Given the description of an element on the screen output the (x, y) to click on. 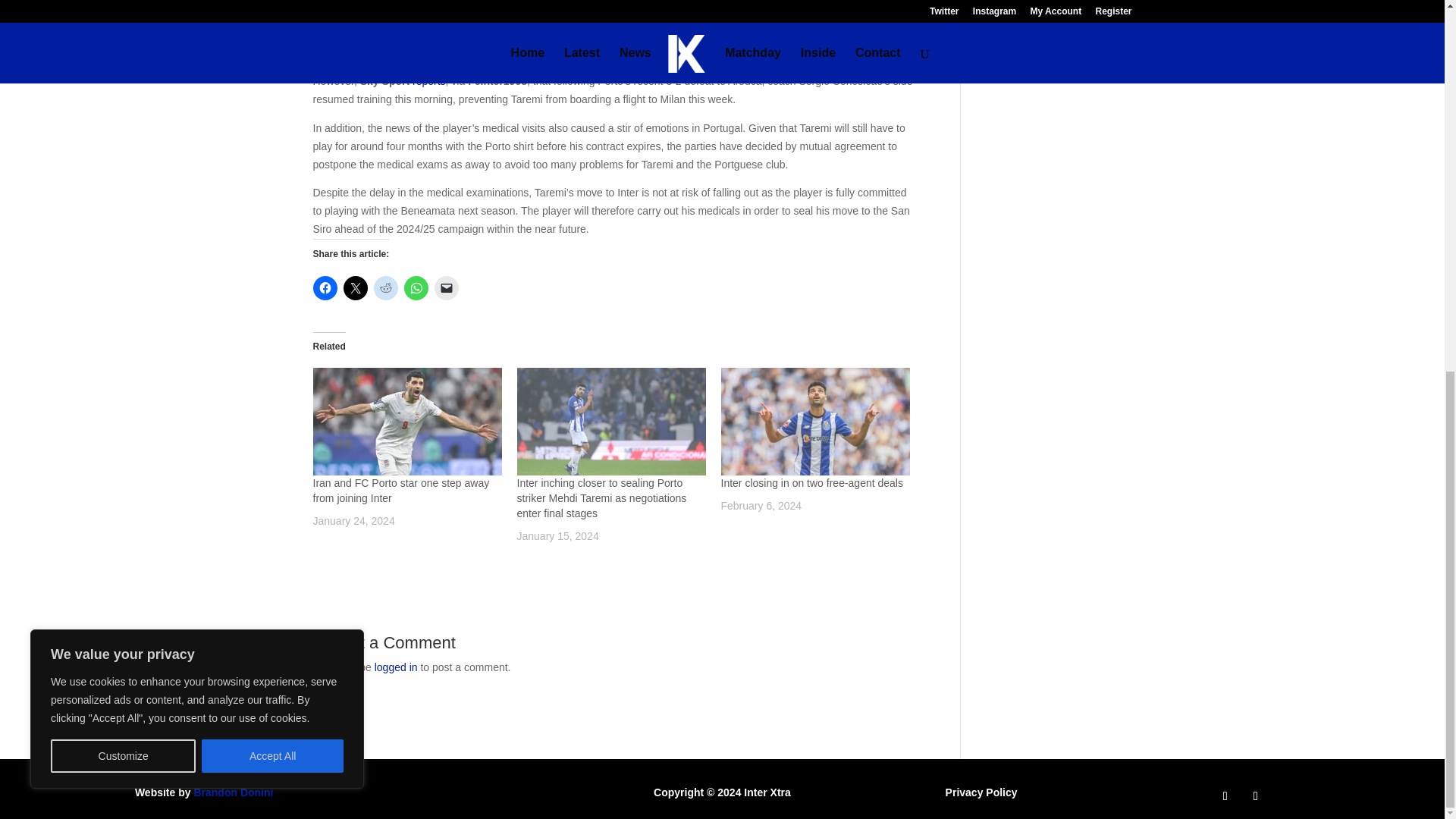
Accept All (272, 79)
Inter closing in on two free-agent deals (814, 421)
Iran and FC Porto star one step away from joining Inter (406, 421)
Customize (122, 79)
Follow on Instagram (1255, 795)
Click to share on Reddit (384, 288)
Inter closing in on two free-agent deals (811, 482)
Click to share on Facebook (324, 288)
Iran and FC Porto star one step away from joining Inter (401, 490)
reports (428, 80)
Click to share on X (354, 288)
Click to share on WhatsApp (415, 288)
Click to email a link to a friend (445, 288)
